Given the description of an element on the screen output the (x, y) to click on. 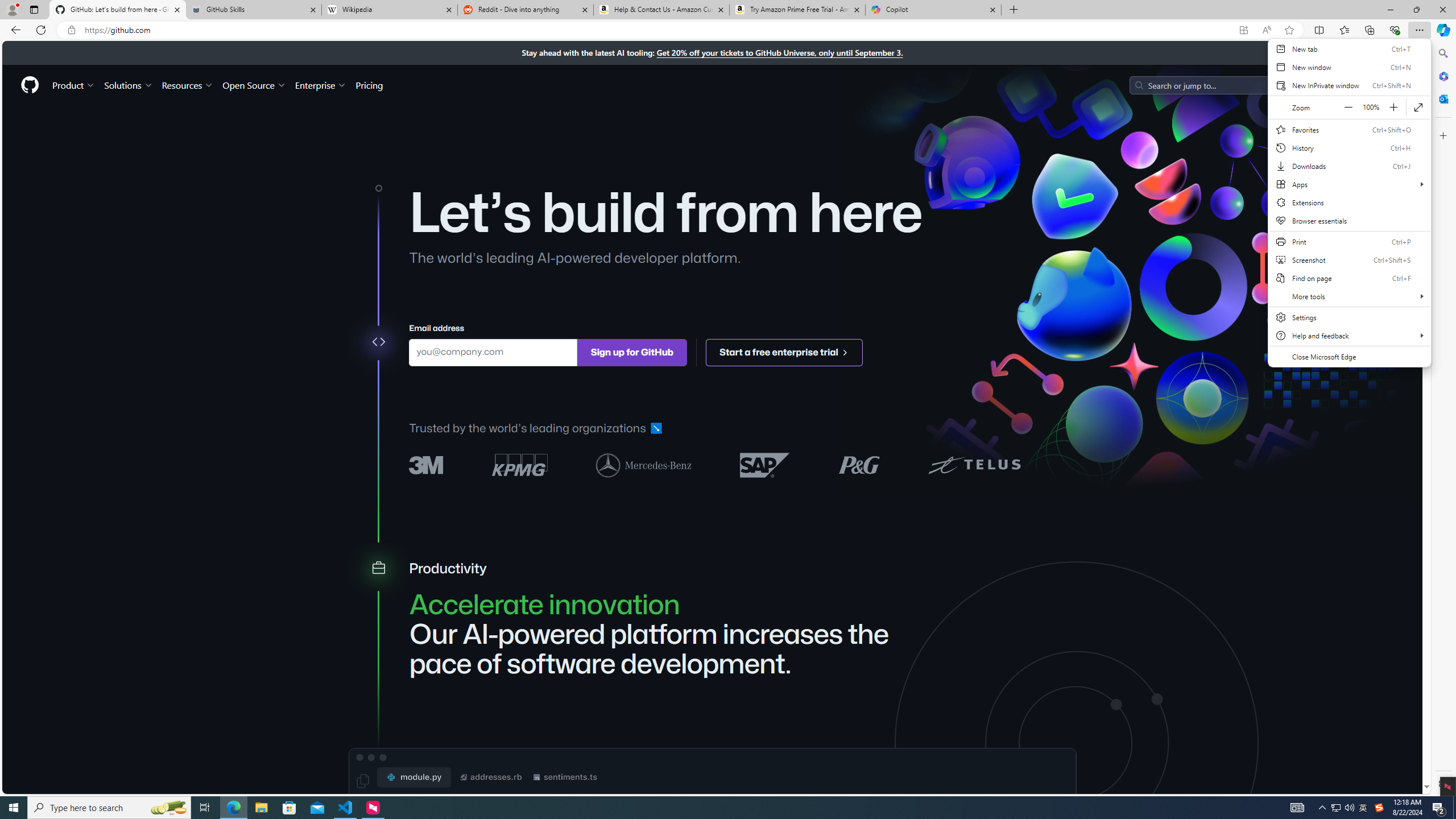
Enter full screen (F11) (1418, 107)
Settings and more (1349, 208)
Help & Contact Us - Amazon Customer Service (660, 9)
KPMG logo (519, 464)
App available. Install GitHub (1243, 29)
Open Source (254, 84)
Reddit - Dive into anything (525, 9)
Apps (1349, 184)
Print (1349, 241)
Side bar (1443, 418)
Open Source (254, 84)
